Given the description of an element on the screen output the (x, y) to click on. 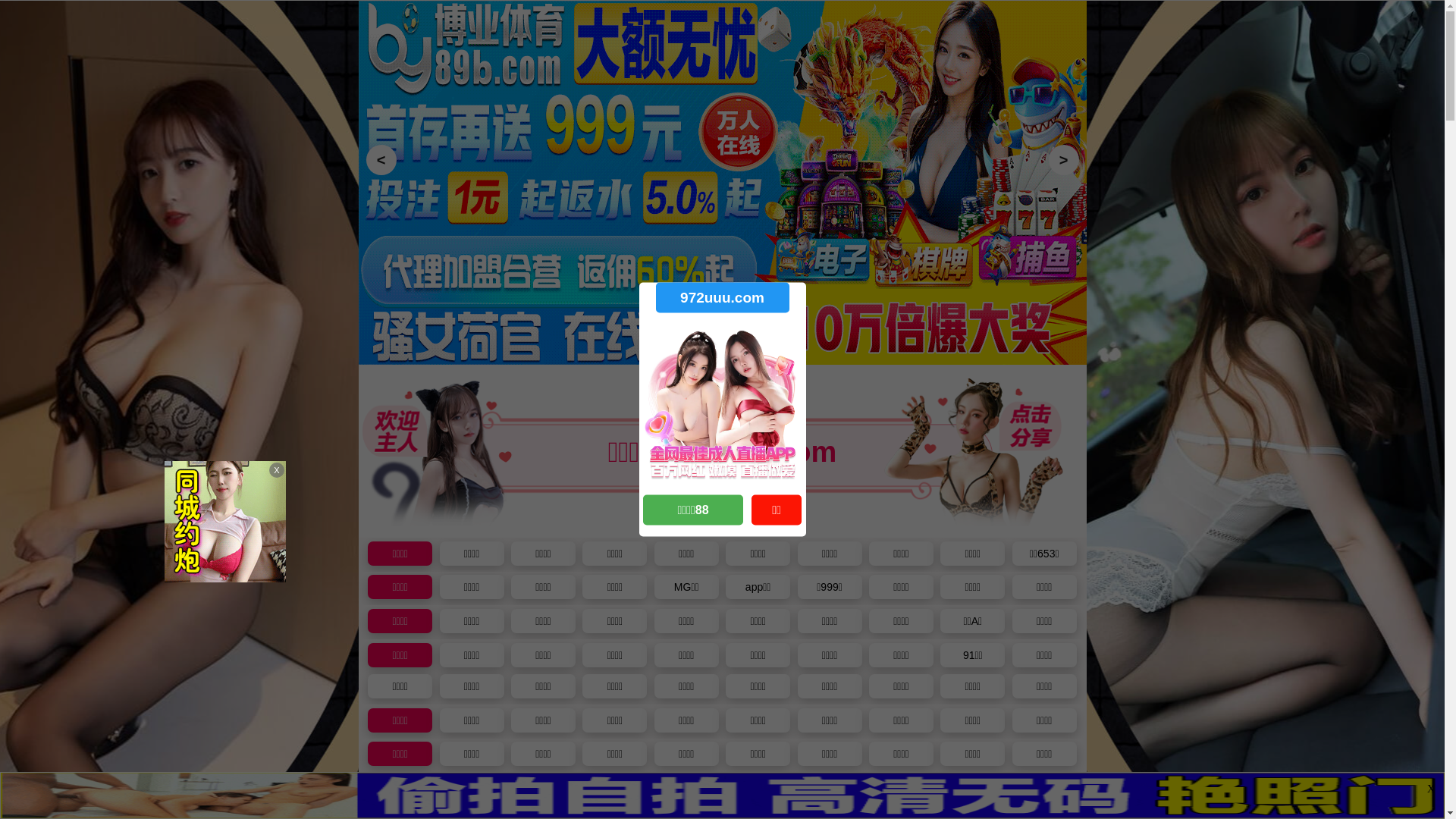
> Element type: text (1063, 159)
972uuu.com Element type: text (721, 297)
< Element type: text (380, 159)
X Element type: text (1430, 789)
